Given the description of an element on the screen output the (x, y) to click on. 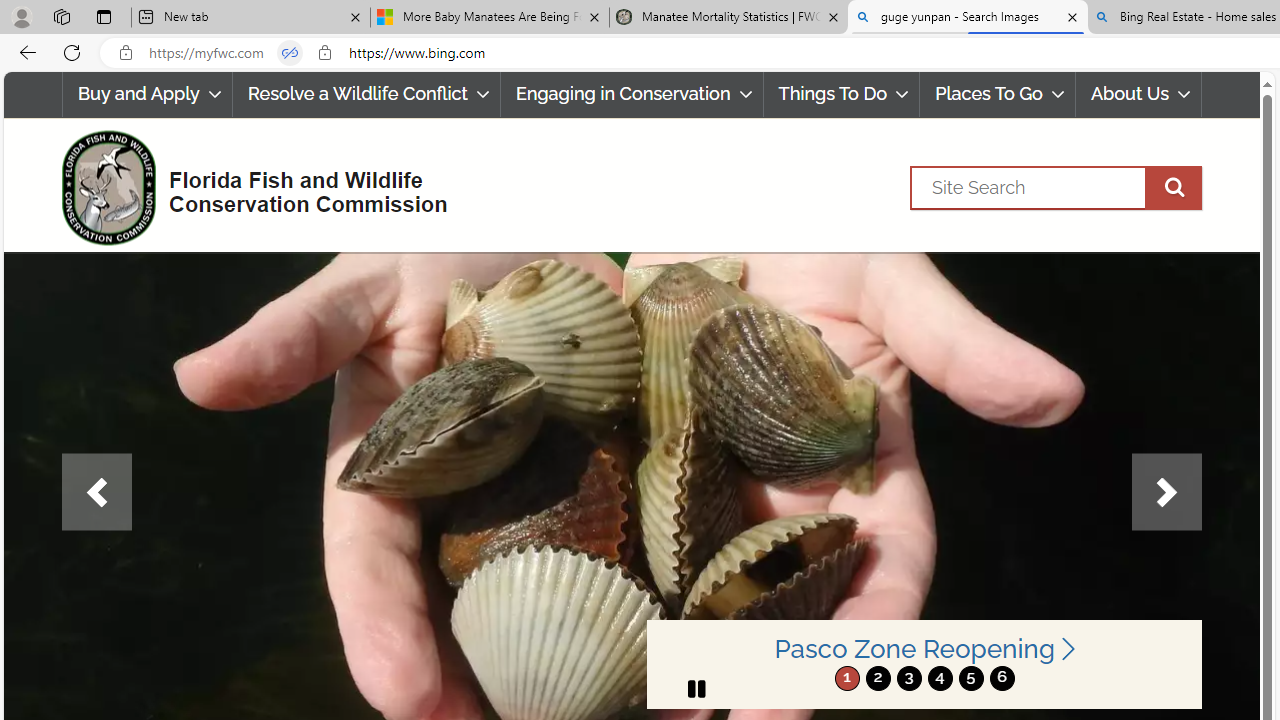
Buy and Apply (146, 94)
Pasco Zone Reopening  (924, 649)
slider pause button (696, 688)
FWC Logo (108, 187)
3 (908, 678)
4 (939, 678)
6 (1002, 678)
Buy and Apply (146, 94)
5 (970, 678)
Engaging in Conservation (632, 94)
move to slide 3 (908, 678)
execute site search (1173, 187)
